Given the description of an element on the screen output the (x, y) to click on. 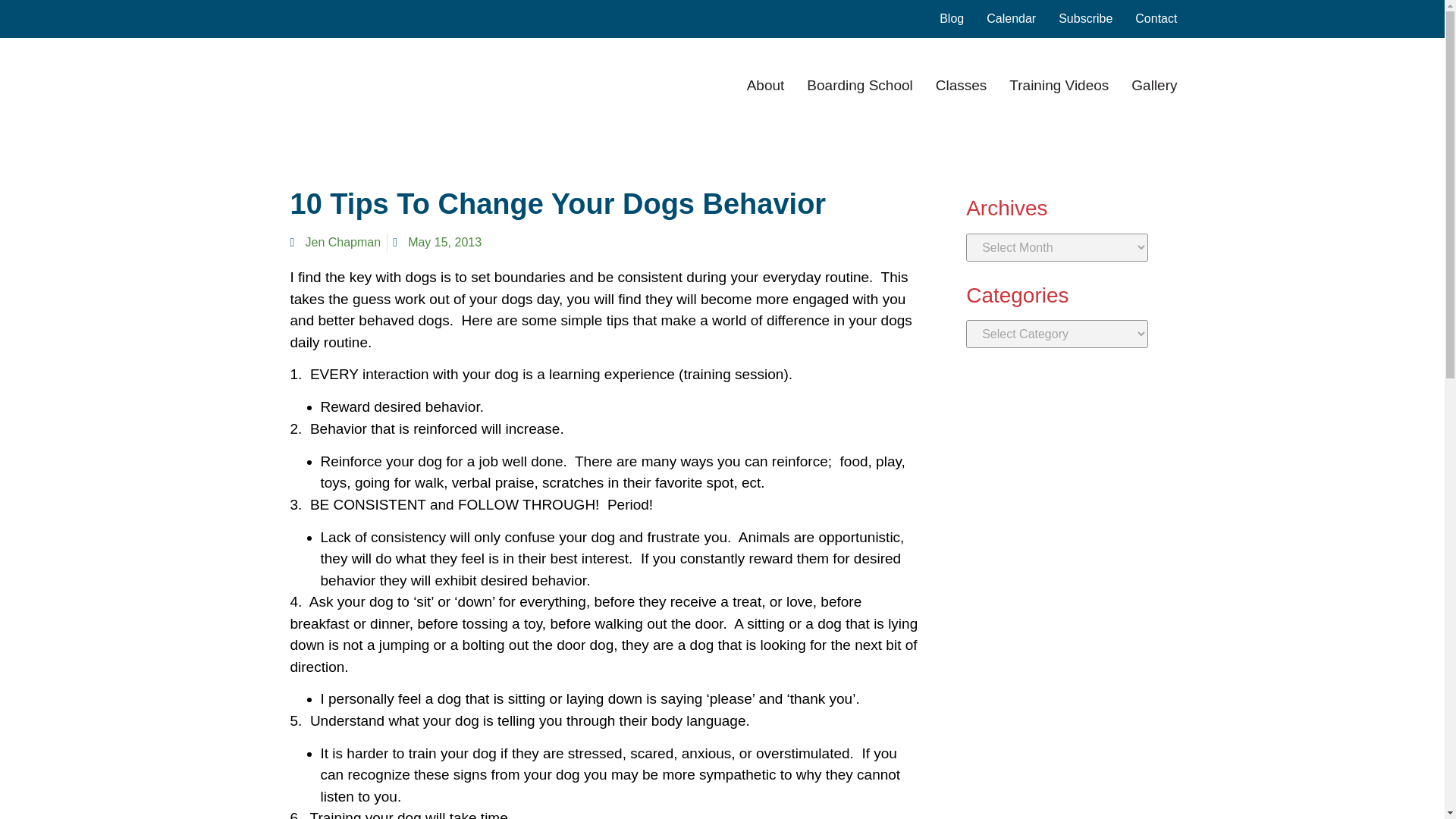
Boarding School (859, 85)
Contact (1155, 18)
Blog (951, 18)
Classes (961, 85)
About (765, 85)
Gallery (1153, 85)
Subscribe (1085, 18)
Calendar (1011, 18)
Jen Chapman (334, 242)
Training Videos (1058, 85)
May 15, 2013 (437, 242)
